Given the description of an element on the screen output the (x, y) to click on. 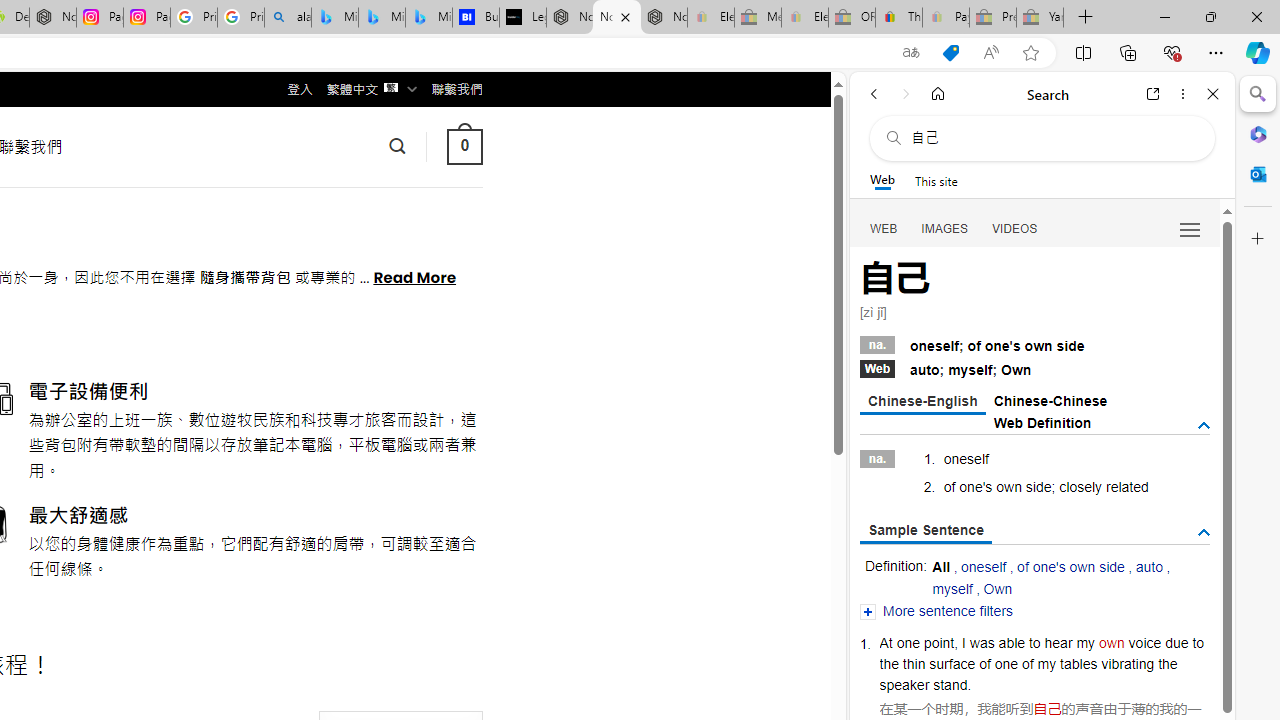
related (1126, 486)
of one's own side (1071, 566)
stand (950, 684)
